Given the description of an element on the screen output the (x, y) to click on. 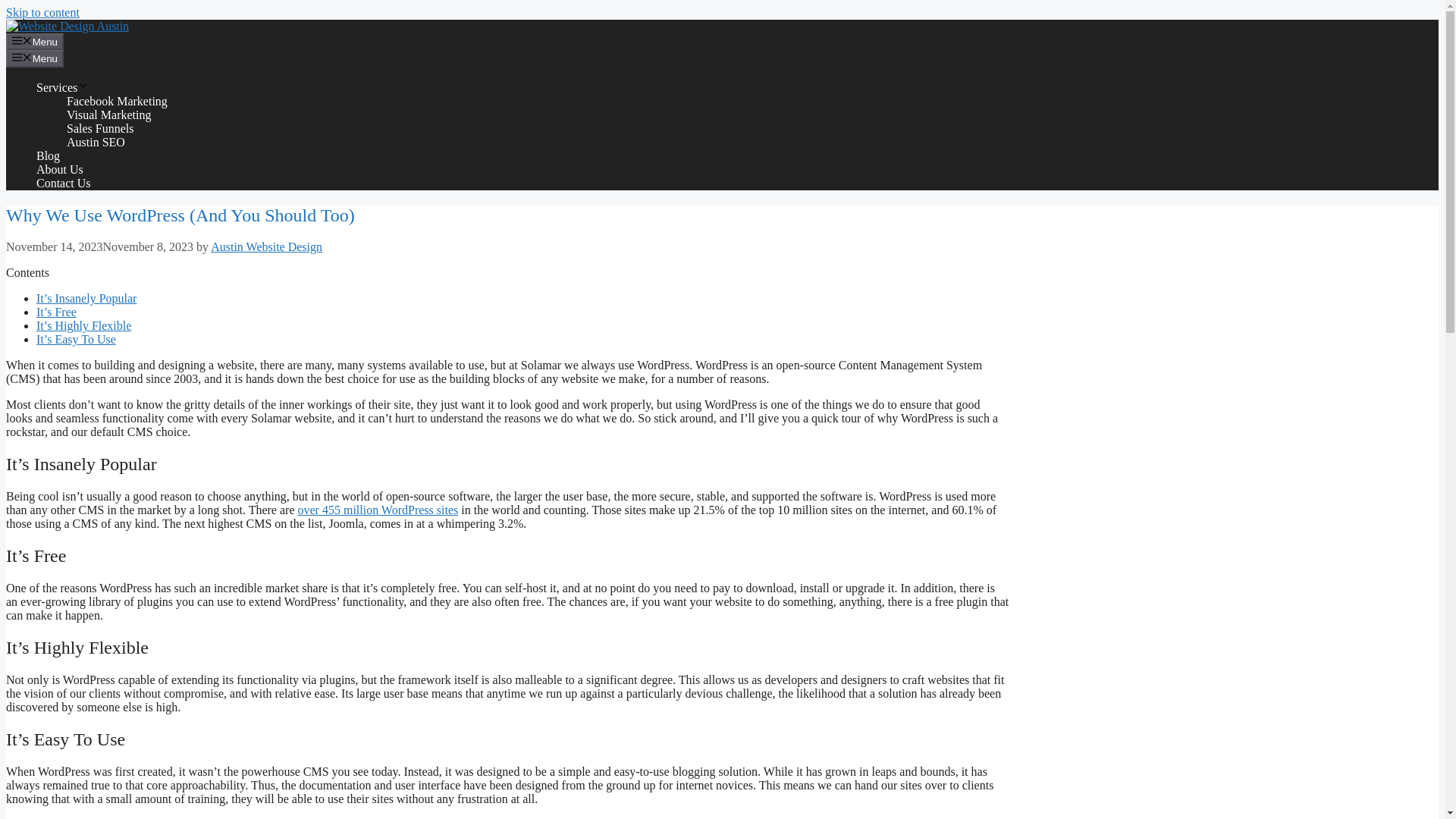
over 455 million WordPress sites (377, 509)
Sales Funnels (99, 128)
Facebook Marketing (116, 101)
Visual Marketing (108, 114)
Menu (34, 41)
Blog (47, 155)
Skip to content (42, 11)
Austin Website Design (266, 246)
View all posts by Austin Website Design (266, 246)
Services (62, 87)
